Given the description of an element on the screen output the (x, y) to click on. 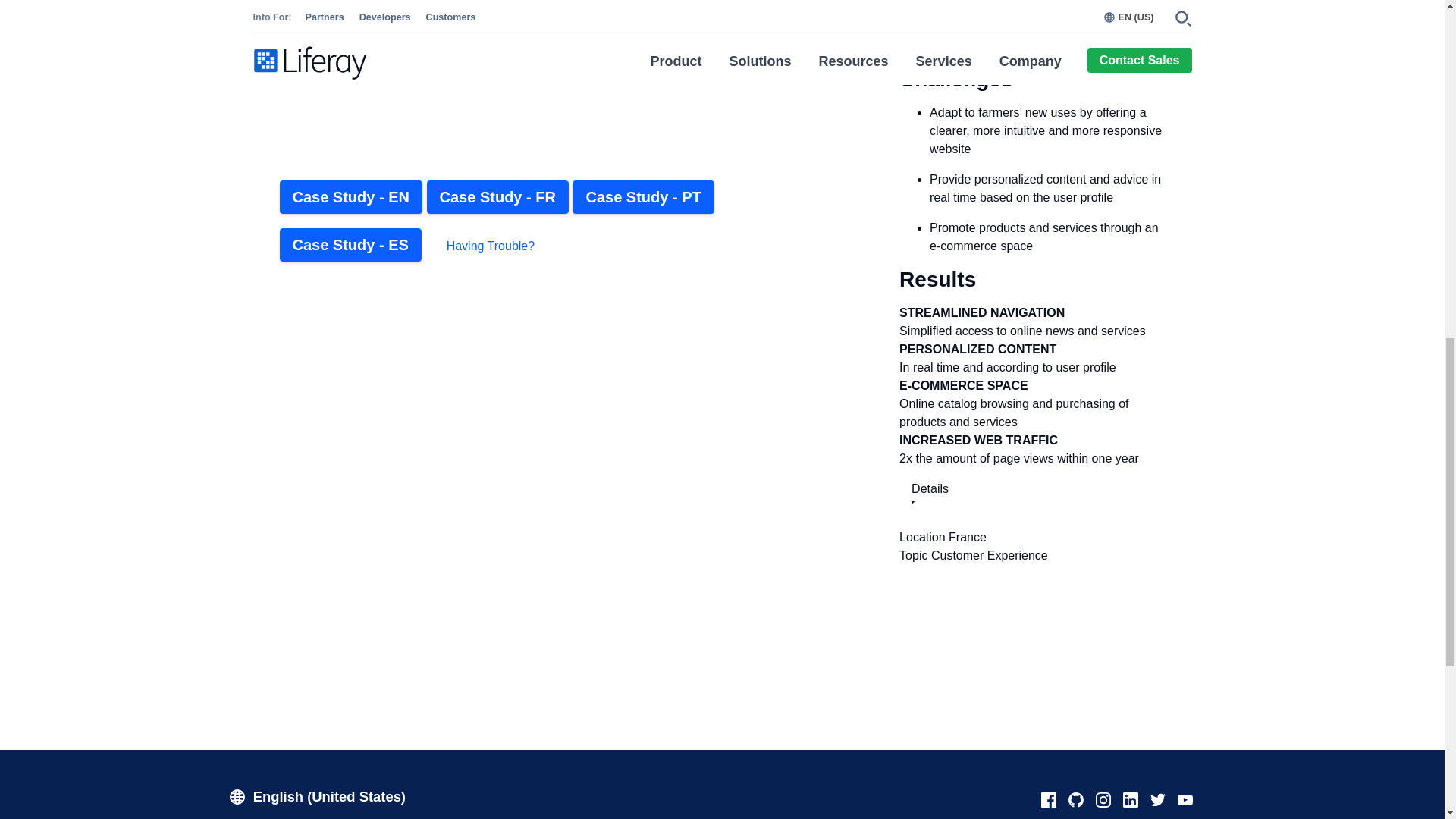
Instagram (1102, 802)
Facebook (1047, 802)
Twitter (1156, 802)
GitHub (1075, 802)
YouTube (1184, 802)
LinkedIn (1129, 802)
